Given the description of an element on the screen output the (x, y) to click on. 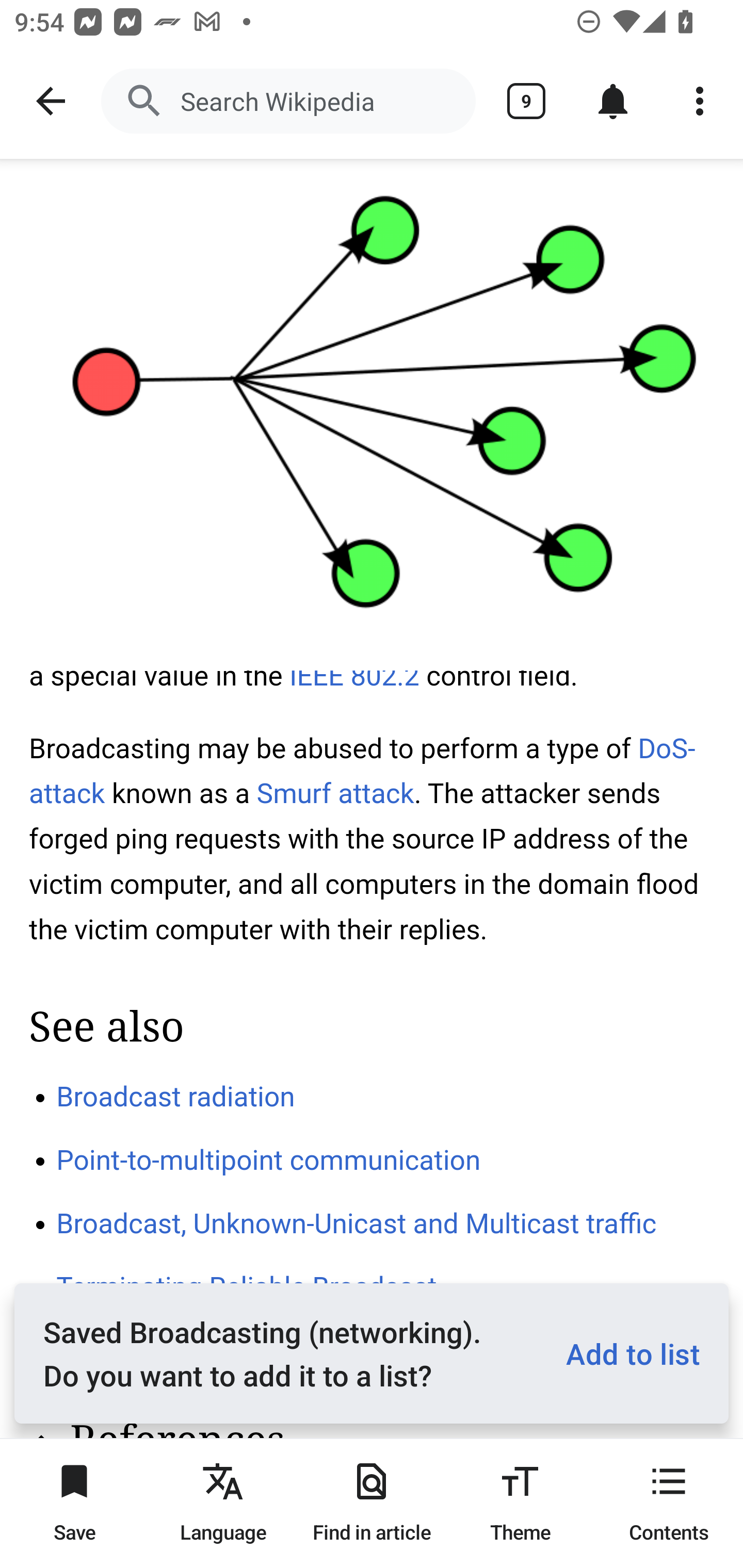
Show tabs 9 (525, 100)
Notifications (612, 100)
Navigate up (50, 101)
More options (699, 101)
Search Wikipedia (288, 100)
Image: Broadcasting (networking) (371, 414)
DoS-attack (362, 770)
Smurf attack (335, 793)
Broadcast radiation (175, 1095)
Point-to-multipoint communication (268, 1160)
Broadcast, Unknown-Unicast and Multicast traffic (356, 1222)
Add to list (625, 1353)
Save (74, 1502)
Language (222, 1502)
Find in article (371, 1502)
Theme (519, 1502)
Contents (668, 1502)
